Given the description of an element on the screen output the (x, y) to click on. 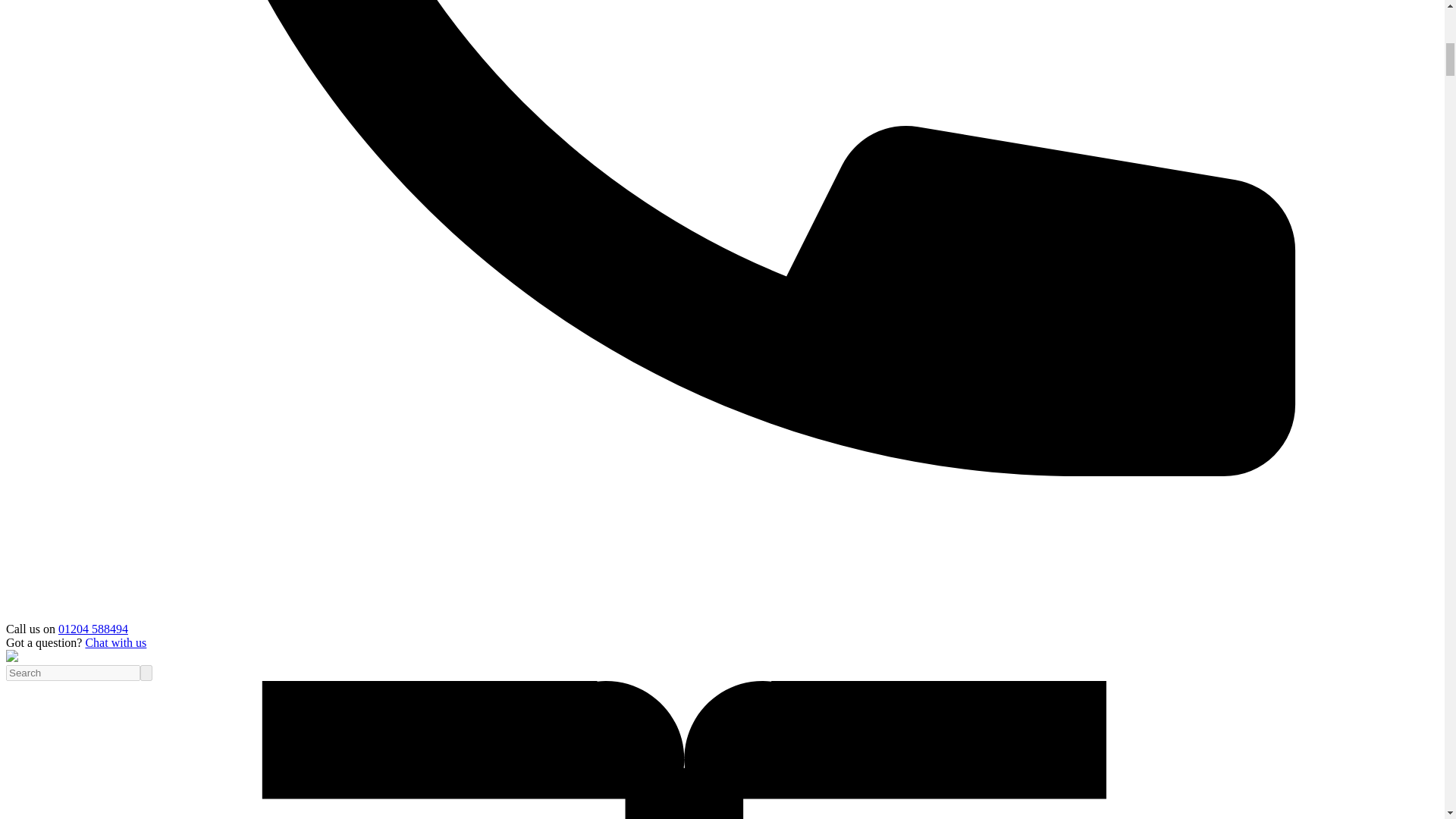
01204 588494 (93, 628)
Chat with us (115, 642)
